Given the description of an element on the screen output the (x, y) to click on. 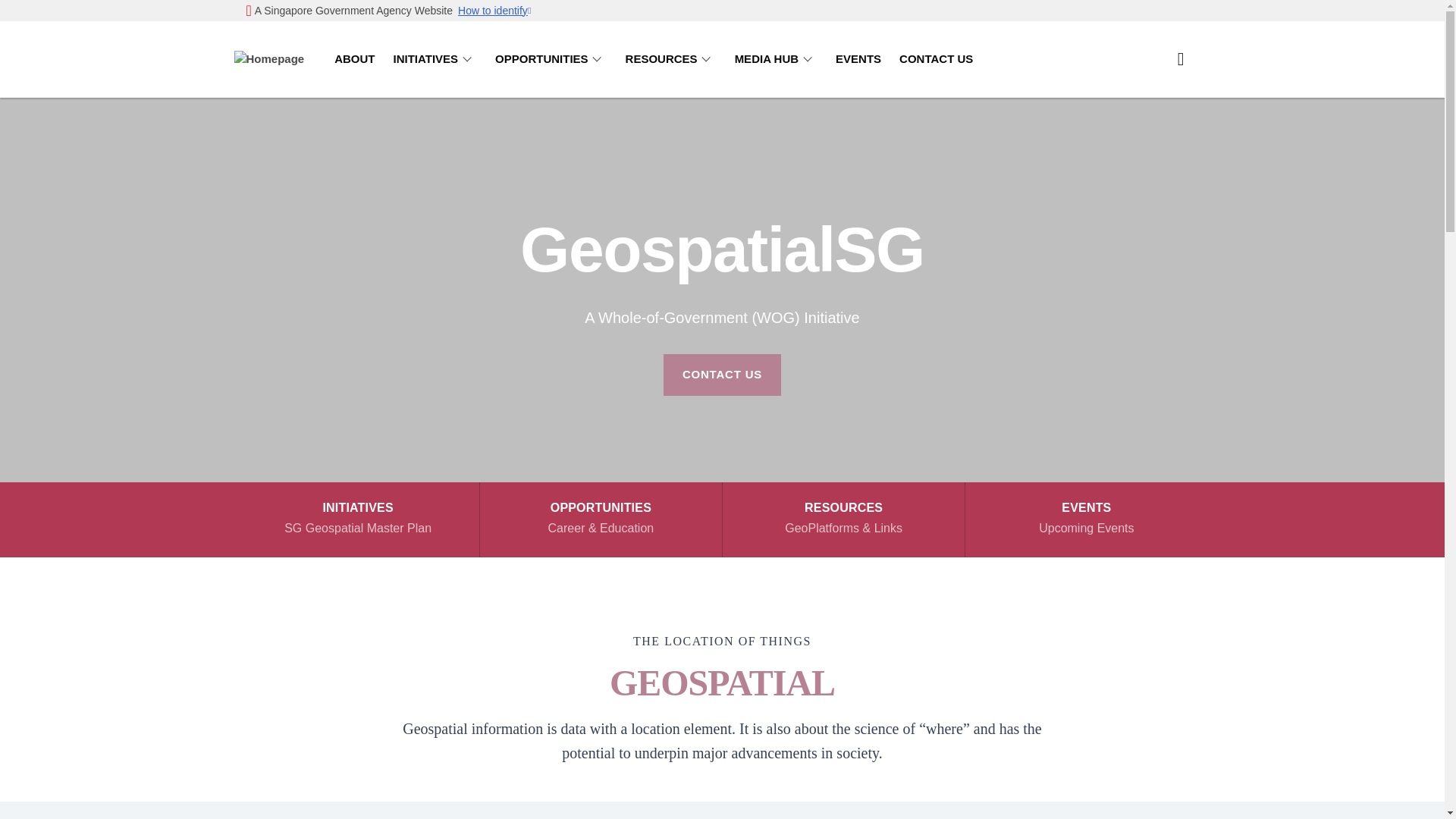
CONTACT US (935, 59)
CONTACT US (721, 373)
INITIATIVES (1086, 519)
OPPORTUNITIES (435, 59)
RESOURCES (357, 519)
MEDIA HUB (551, 59)
